Given the description of an element on the screen output the (x, y) to click on. 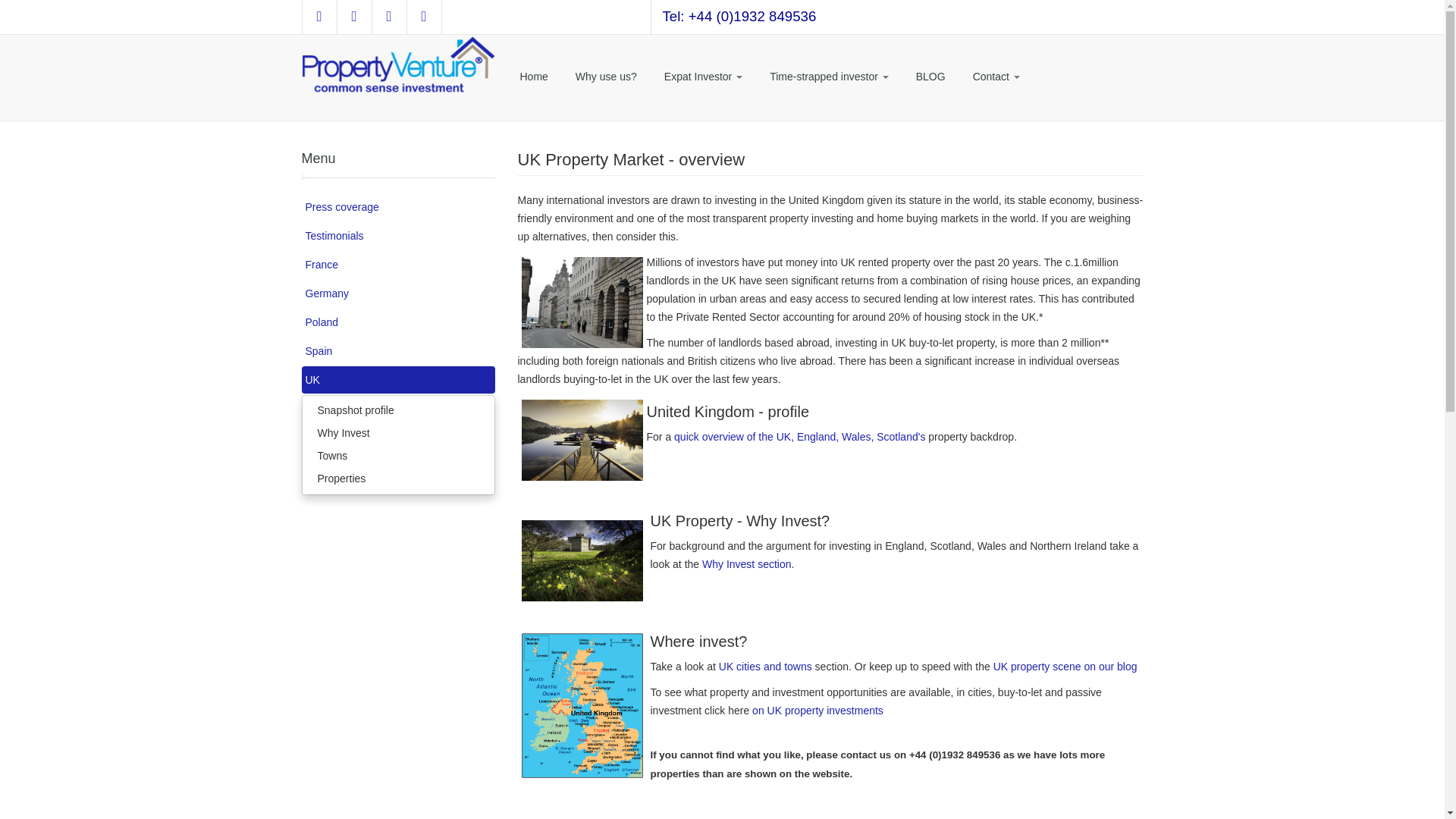
Time-strapped investor (828, 77)
UK property scene on our blog (1064, 666)
Why use us? (606, 77)
UK cities and towns (765, 666)
Property Venture (398, 64)
quick overview of the UK, England, Wales, Scotland's (799, 436)
Expat Investor (702, 77)
Why Invest section (746, 563)
